Given the description of an element on the screen output the (x, y) to click on. 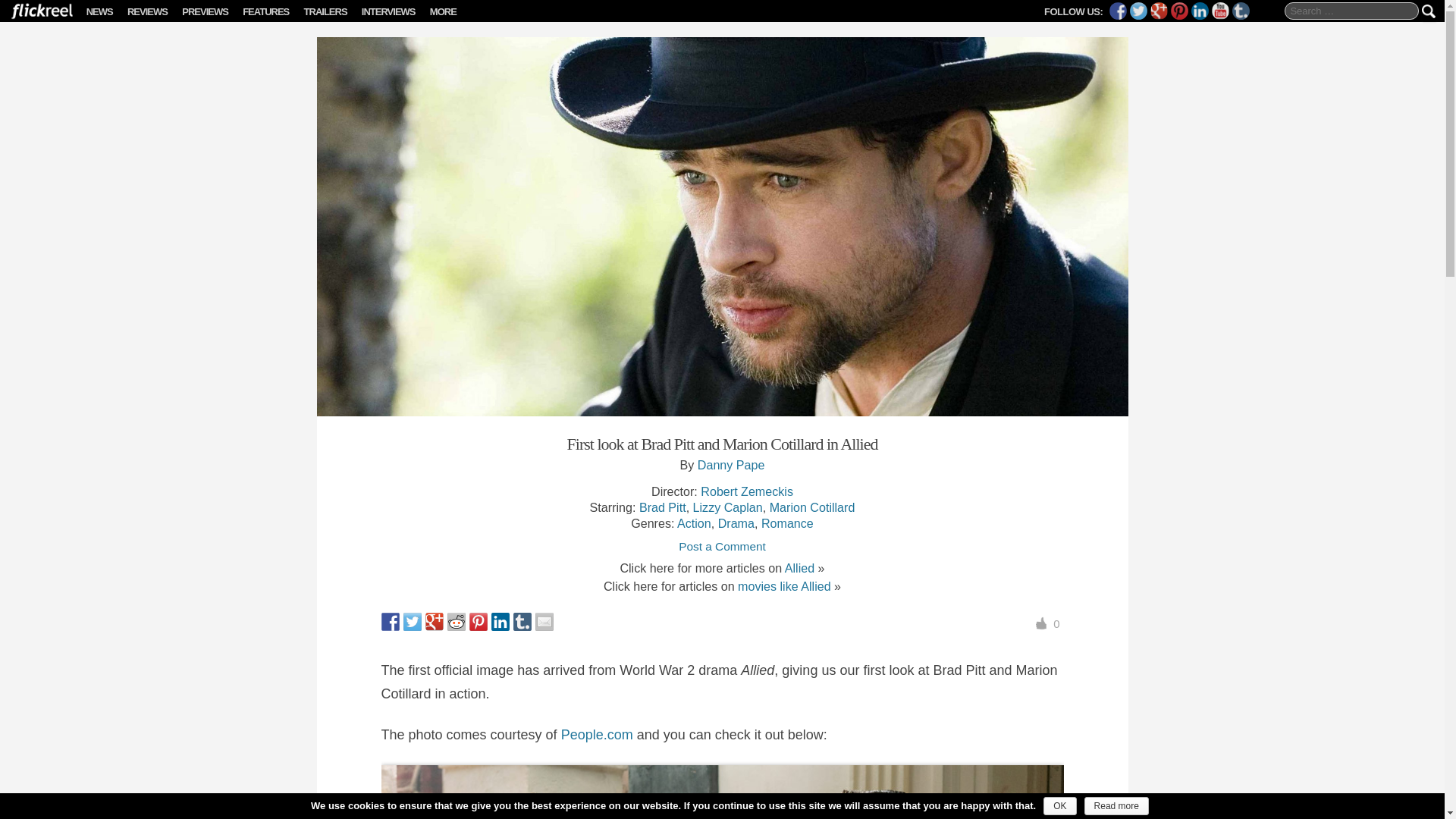
Skip to content (106, 11)
Skip to content (106, 11)
Find us on tumblr (1240, 10)
Flickreel (37, 17)
Our board on Pinterest (1179, 10)
NEWS (99, 11)
Follow us on Facebook (1117, 10)
Find us on YouTube (1219, 10)
Find us on Linkedin (1199, 10)
Follow us on Twitter (1138, 10)
